Given the description of an element on the screen output the (x, y) to click on. 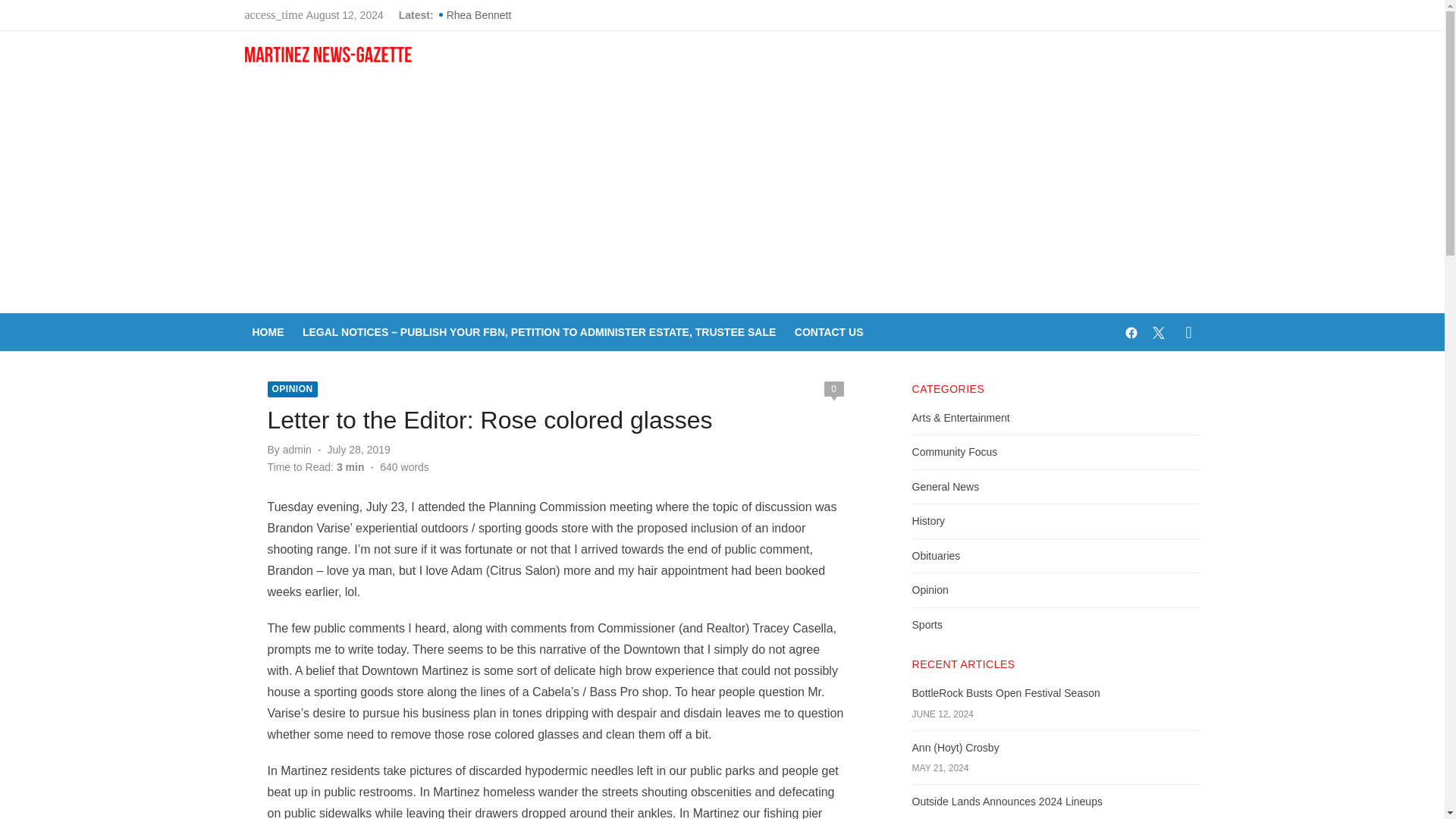
July 28, 2019 (358, 449)
Rhea Bennett (646, 15)
OPINION (291, 389)
0 (833, 388)
CONTACT US (829, 331)
HOME (267, 331)
admin (296, 449)
